Given the description of an element on the screen output the (x, y) to click on. 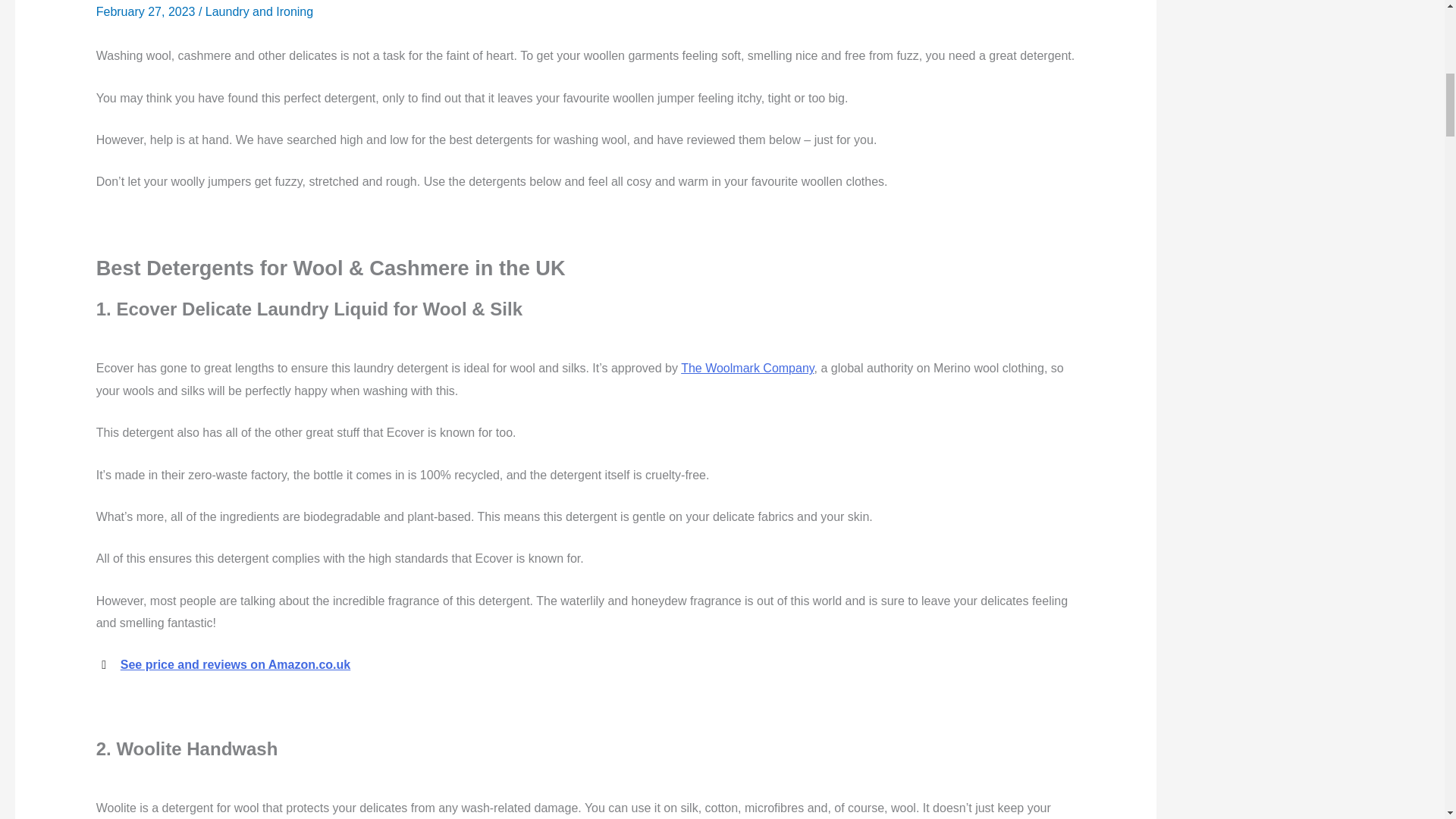
Laundry and Ironing (259, 11)
See price and reviews on Amazon.co.uk (235, 664)
The Woolmark Company (747, 367)
